Given the description of an element on the screen output the (x, y) to click on. 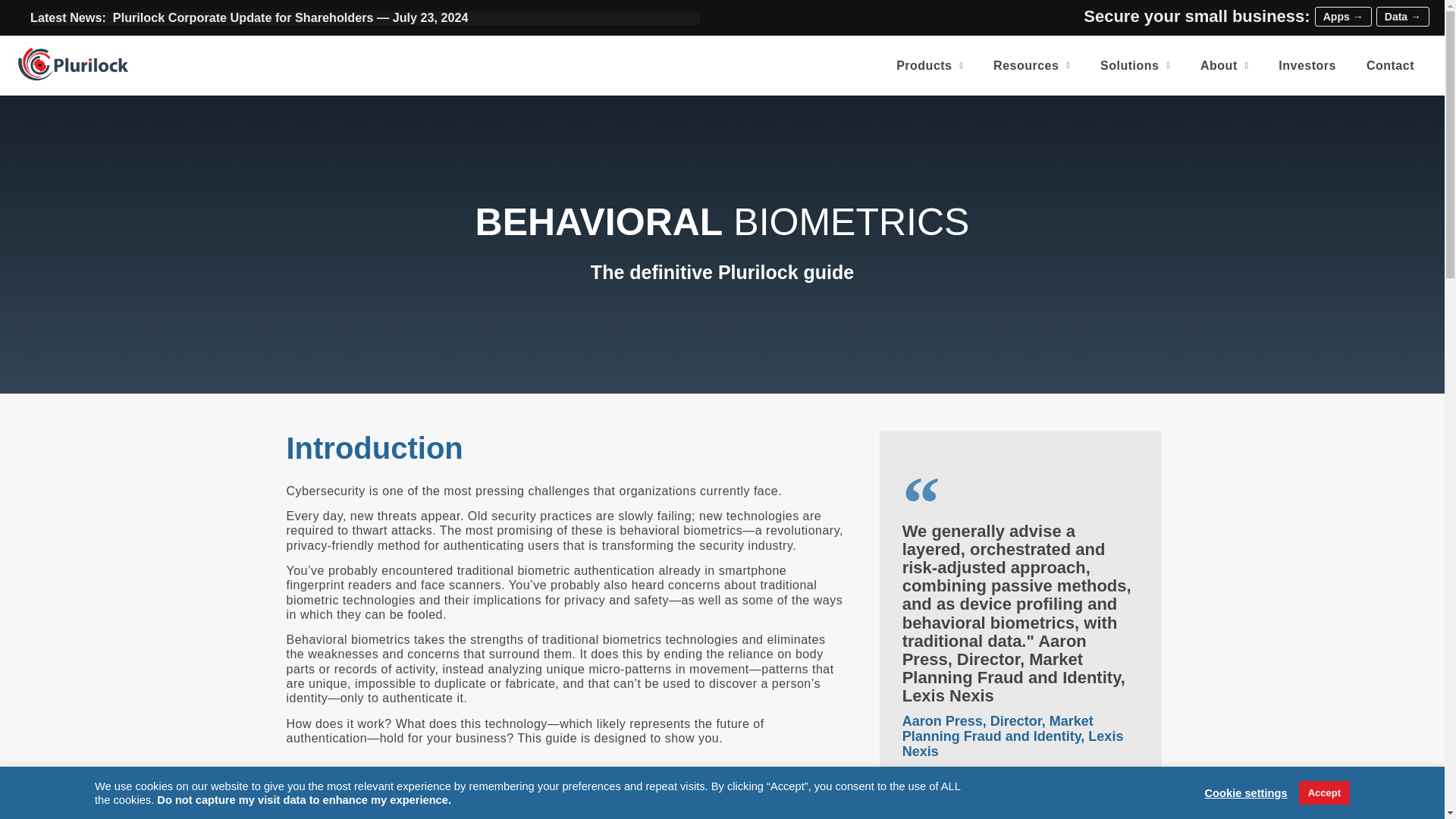
Products (929, 65)
About (1224, 65)
Resources (1031, 65)
Solutions (1134, 65)
